Given the description of an element on the screen output the (x, y) to click on. 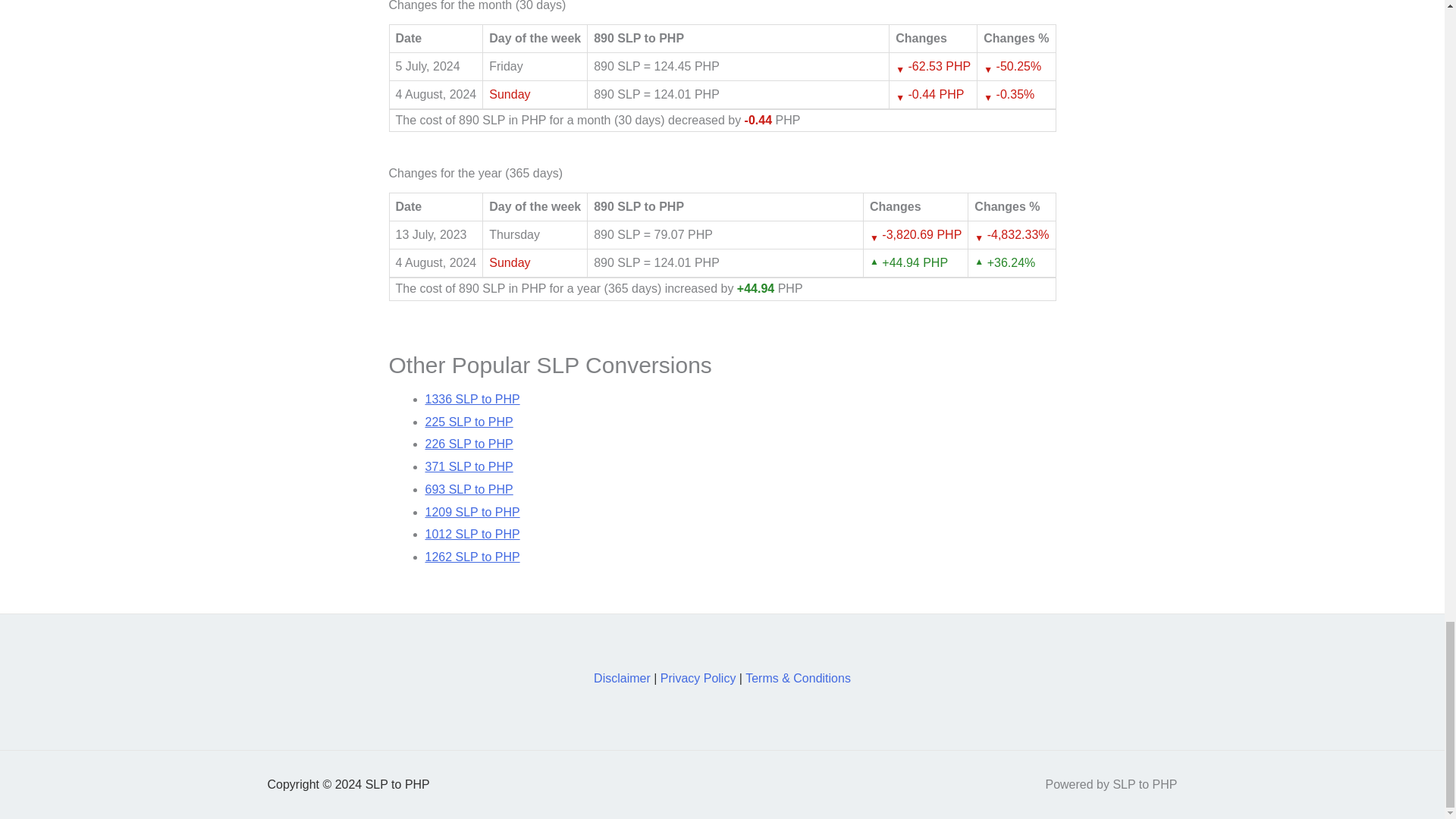
225 SLP to PHP (468, 421)
Privacy Policy (698, 677)
226 SLP to PHP (468, 443)
1209 SLP to PHP (472, 511)
371 SLP to PHP (468, 466)
Disclaimer (622, 677)
693 SLP to PHP (468, 489)
1262 SLP to PHP (472, 556)
1336 SLP to PHP (472, 399)
1012 SLP to PHP (472, 533)
